Given the description of an element on the screen output the (x, y) to click on. 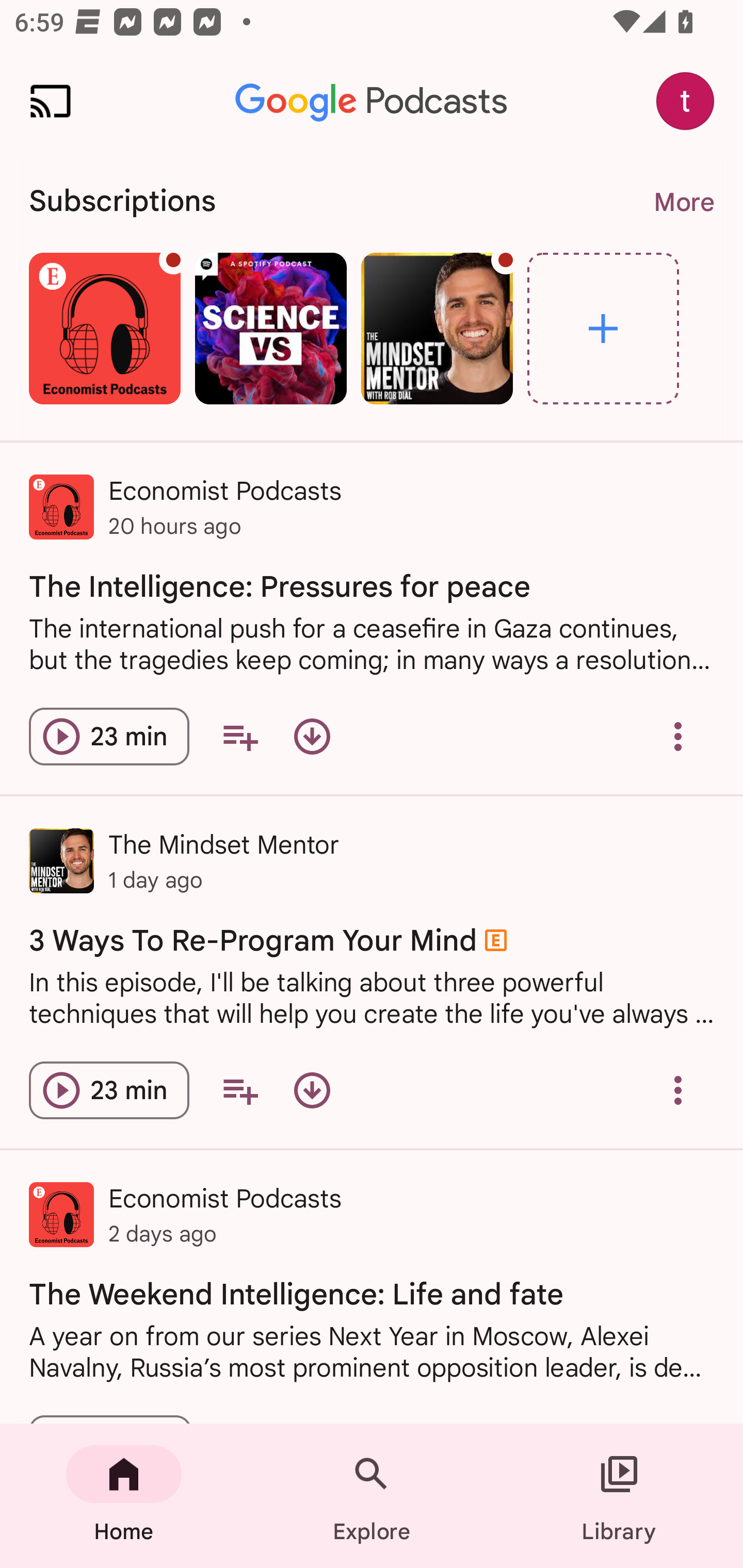
Cast. Disconnected (50, 101)
More More. Navigate to subscriptions page. (683, 202)
Economist Podcasts (104, 328)
Science Vs (270, 328)
The Mindset Mentor (436, 328)
Explore (603, 328)
Add to your queue (239, 736)
Download episode (312, 736)
Overflow menu (677, 736)
Play episode 3 Ways To Re-Program Your Mind 23 min (108, 1090)
Add to your queue (239, 1090)
Download episode (312, 1090)
Overflow menu (677, 1090)
Explore (371, 1495)
Library (619, 1495)
